Given the description of an element on the screen output the (x, y) to click on. 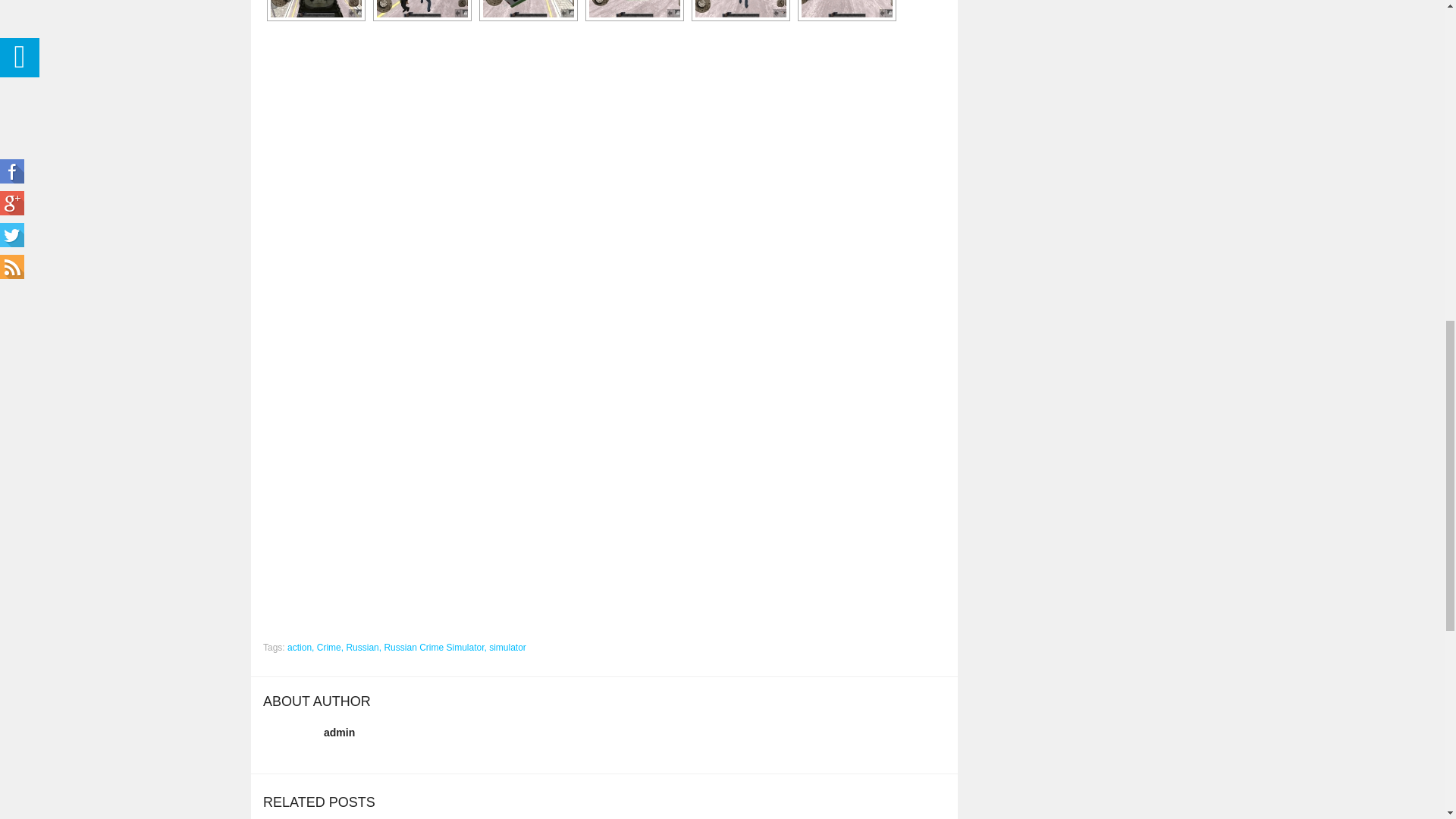
Russian Crime Simulator (634, 8)
Russian Crime Simulator (422, 8)
Russian Crime Simulator (740, 8)
Russian Crime Simulator (315, 8)
Russian Crime Simulator (847, 8)
Russian Crime Simulator (528, 8)
